Given the description of an element on the screen output the (x, y) to click on. 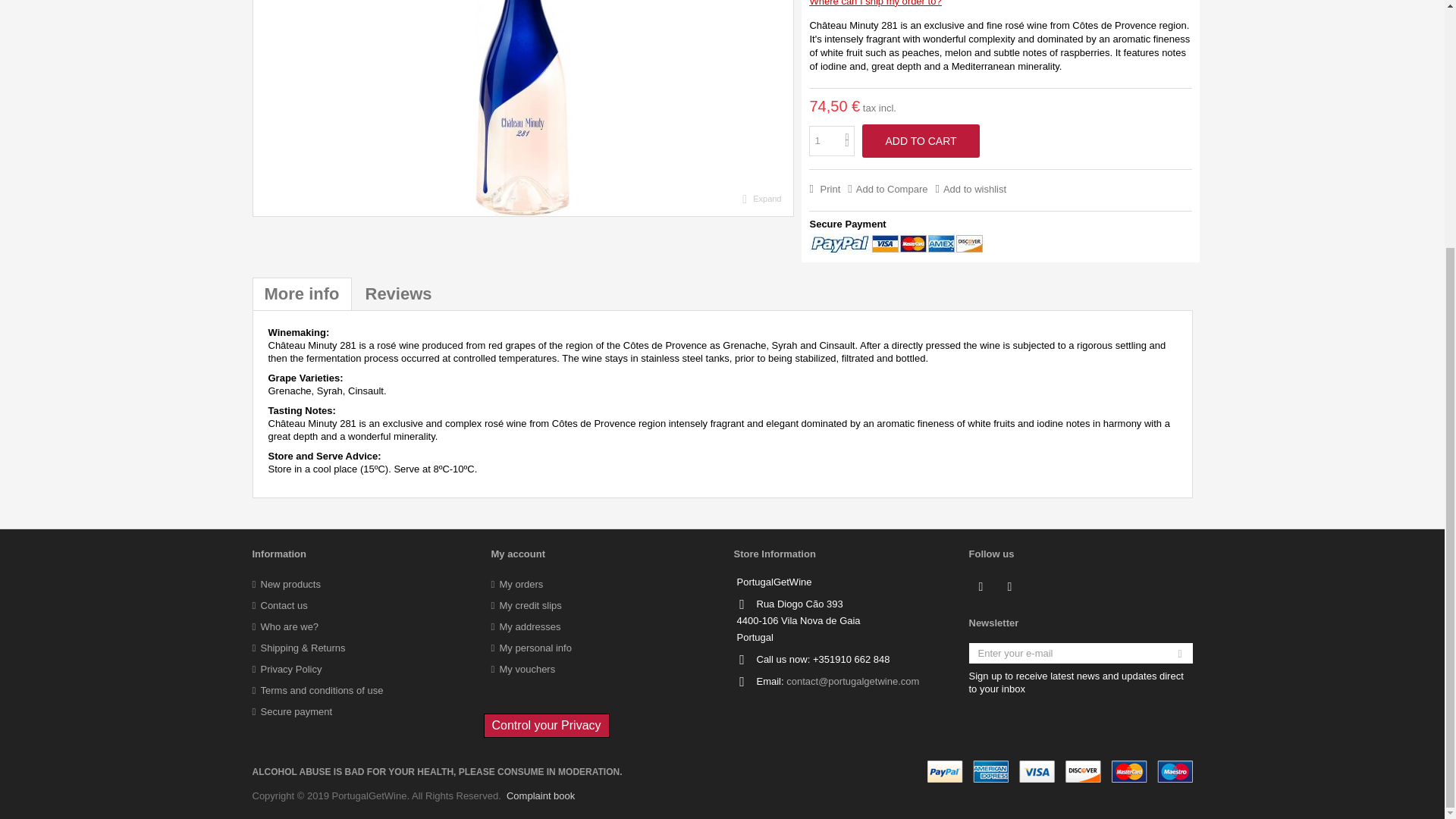
1 (831, 141)
Enter your e-mail (1080, 652)
